Given the description of an element on the screen output the (x, y) to click on. 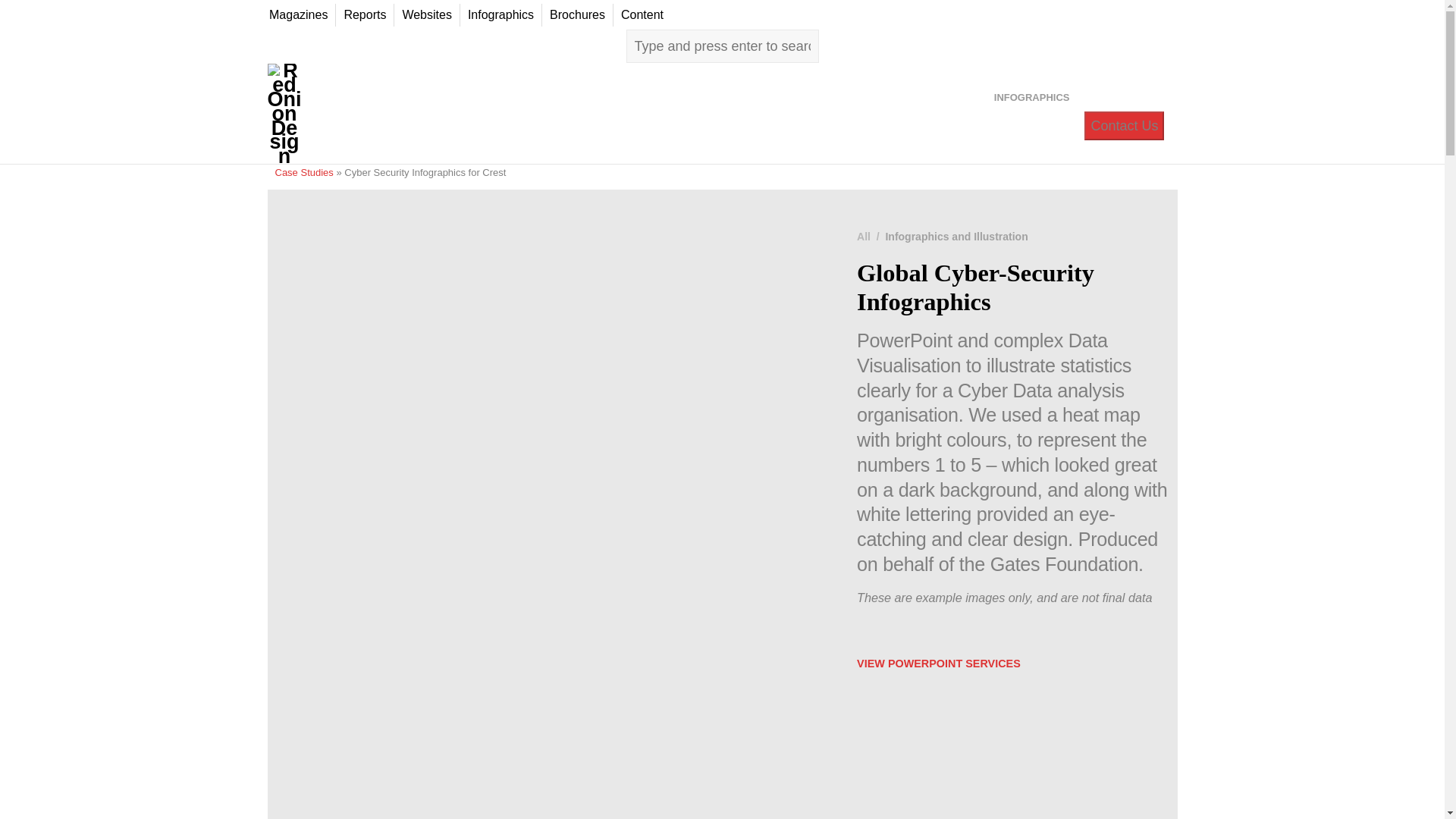
Magazines (298, 15)
Brochures (576, 15)
Case Studies (304, 172)
INFOGRAPHICS (1032, 97)
Infographics and Illustration (956, 236)
Contact Us (1123, 125)
Contact Us (1123, 125)
All (863, 236)
Content (641, 15)
Reports (364, 15)
